Given the description of an element on the screen output the (x, y) to click on. 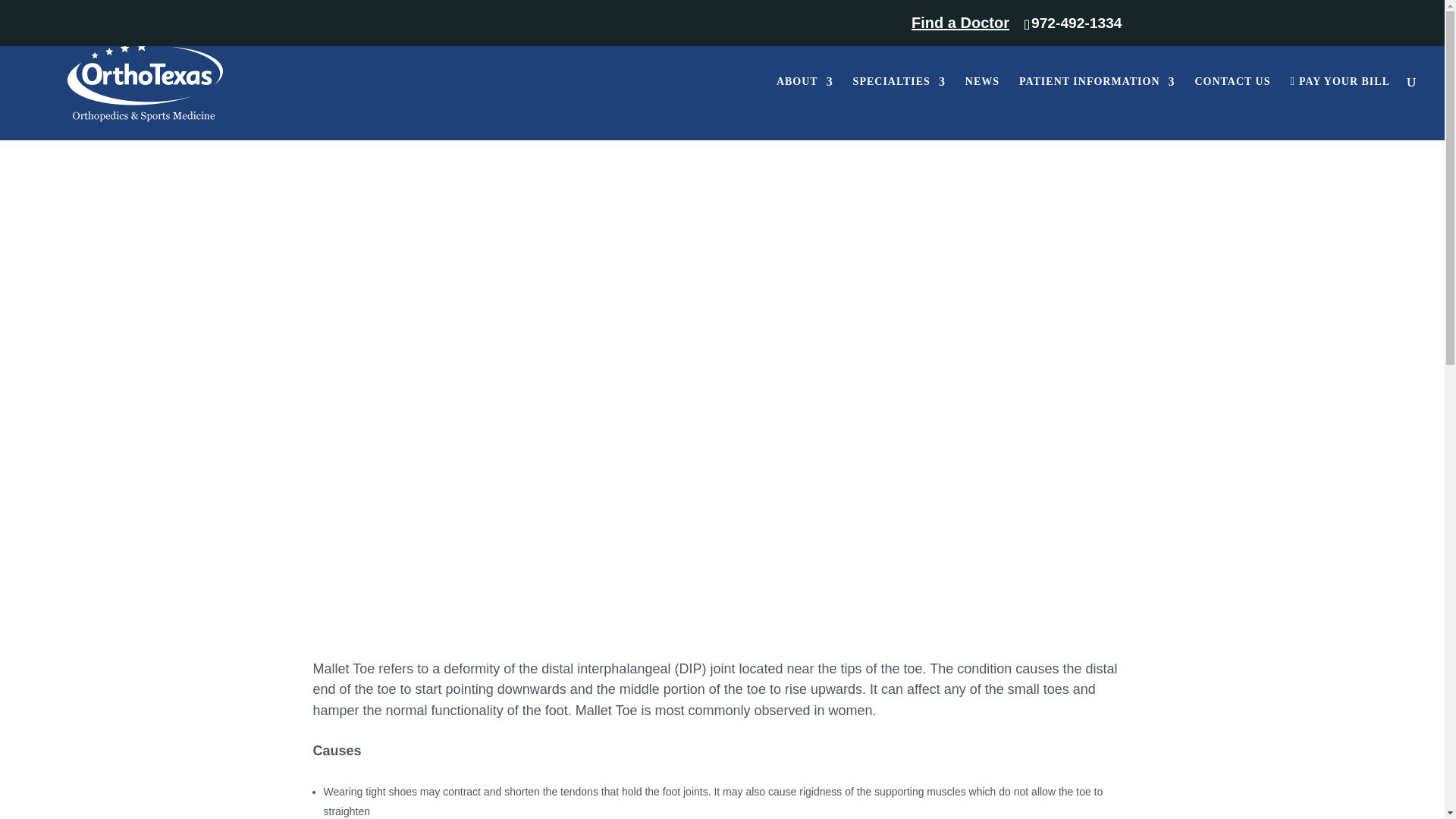
CONTACT US (1231, 108)
Uncategorized (547, 83)
SPECIALTIES (898, 108)
PATIENT INFORMATION (1096, 108)
Find a Doctor (902, 28)
OrthoTexas (366, 83)
Posts by OrthoTexas (366, 83)
ABOUT (804, 108)
PAY YOUR BILL (1340, 108)
